Given the description of an element on the screen output the (x, y) to click on. 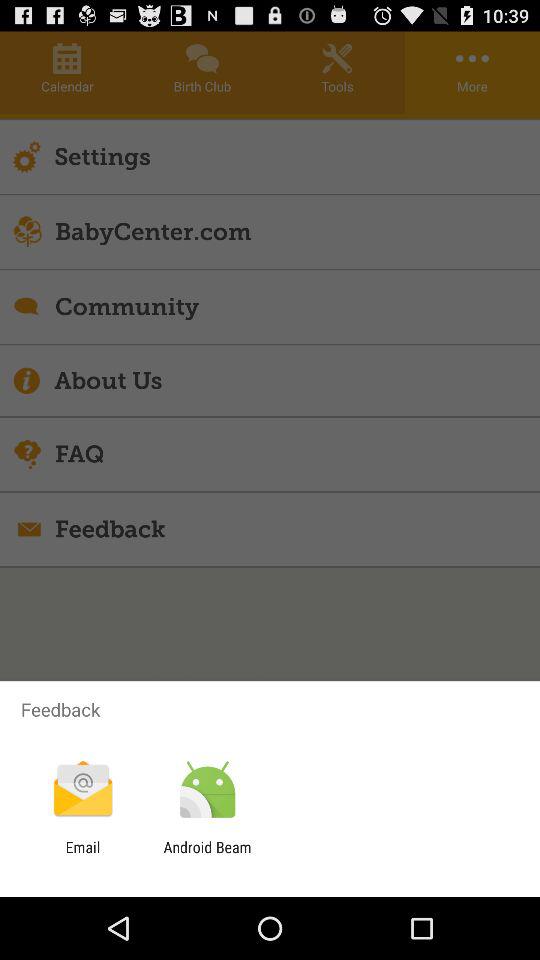
turn off email (82, 856)
